Given the description of an element on the screen output the (x, y) to click on. 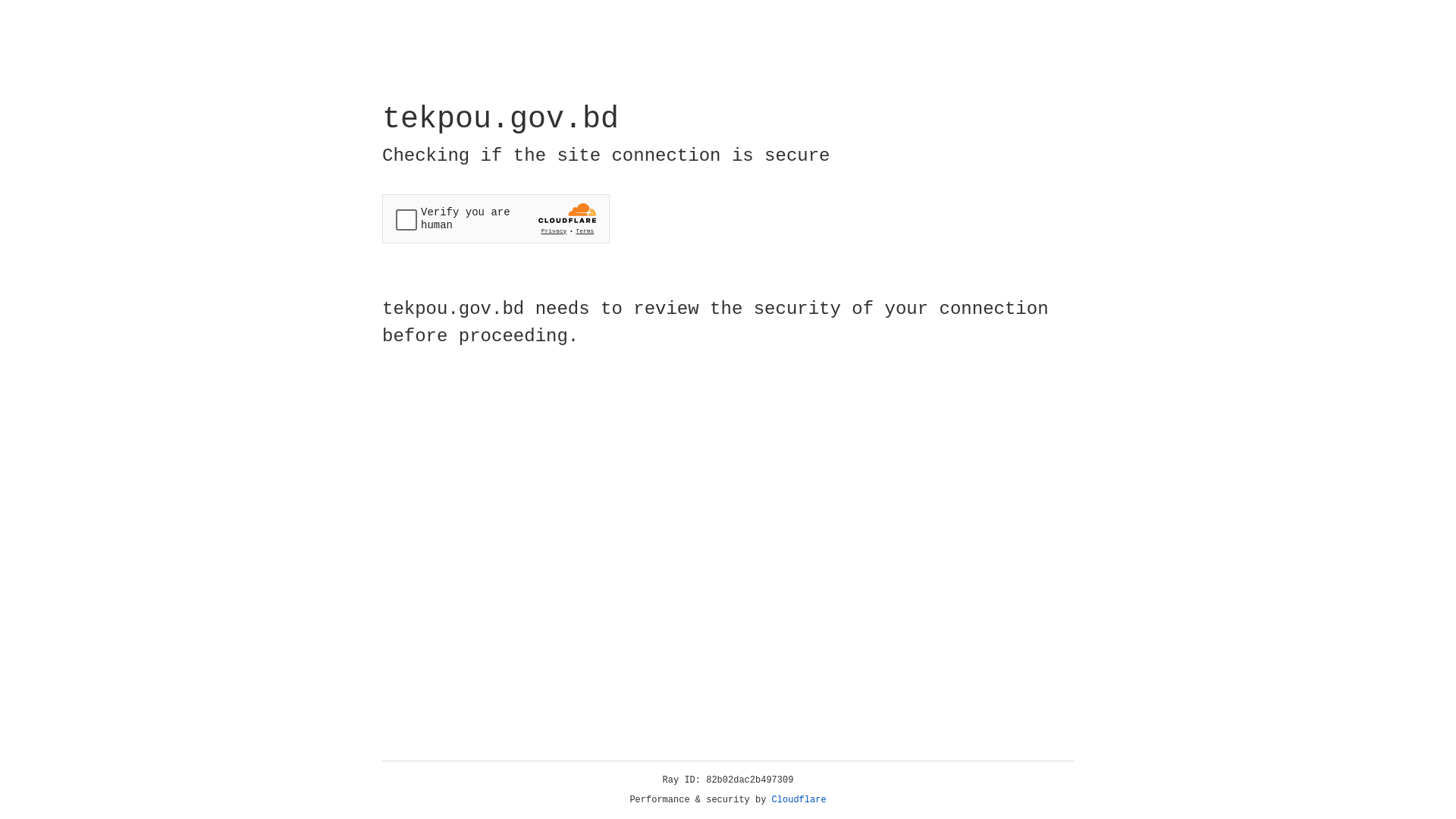
Cloudflare Element type: text (798, 799)
Widget containing a Cloudflare security challenge Element type: hover (495, 218)
